Given the description of an element on the screen output the (x, y) to click on. 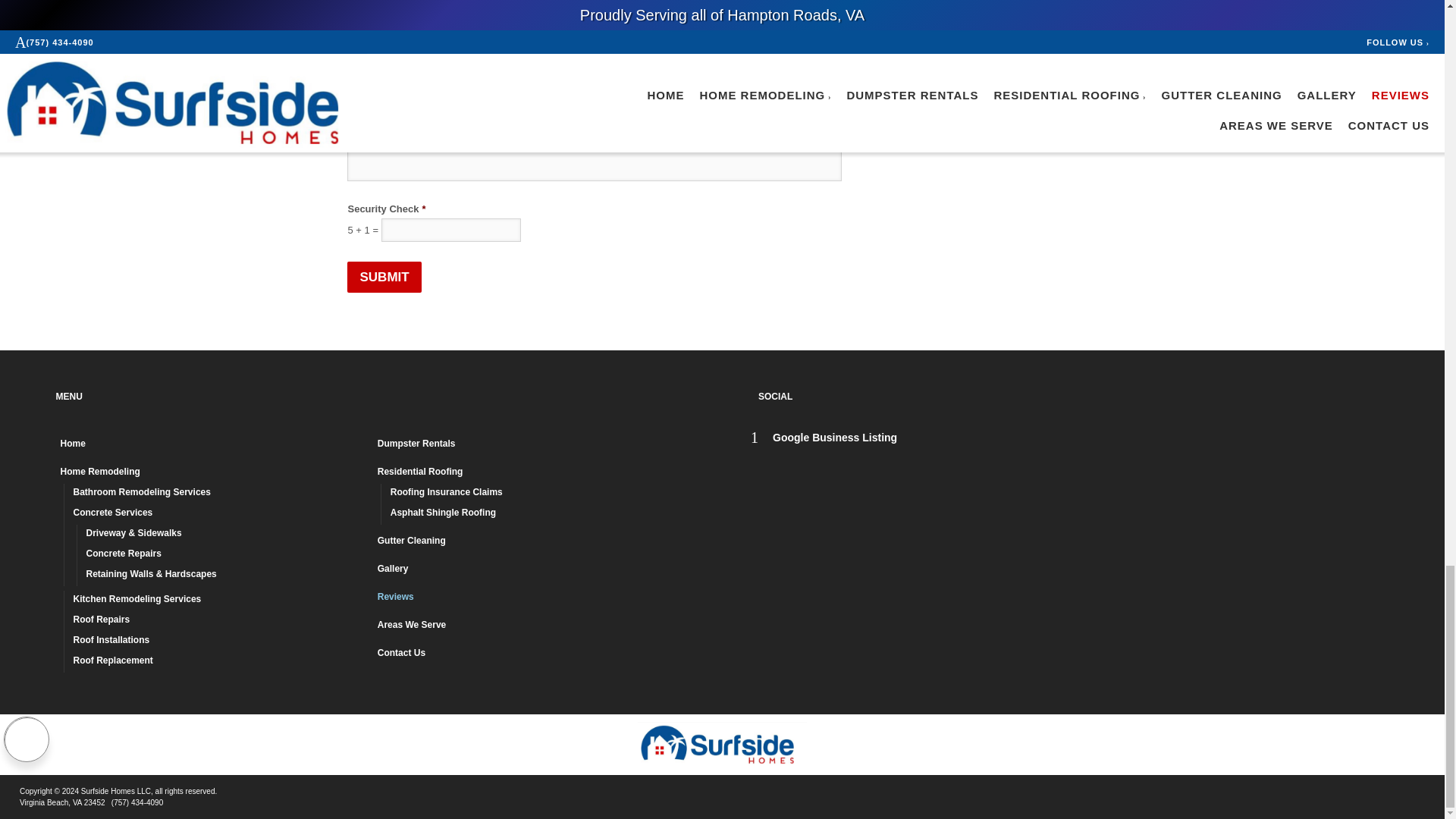
Bathroom Remodeling Services (218, 494)
Google Business Listing (823, 437)
Surfside Homes LLC (722, 744)
Home Remodeling (212, 473)
Concrete Services (218, 514)
Home (212, 444)
Submit (383, 277)
Concrete Repairs (225, 555)
